Given the description of an element on the screen output the (x, y) to click on. 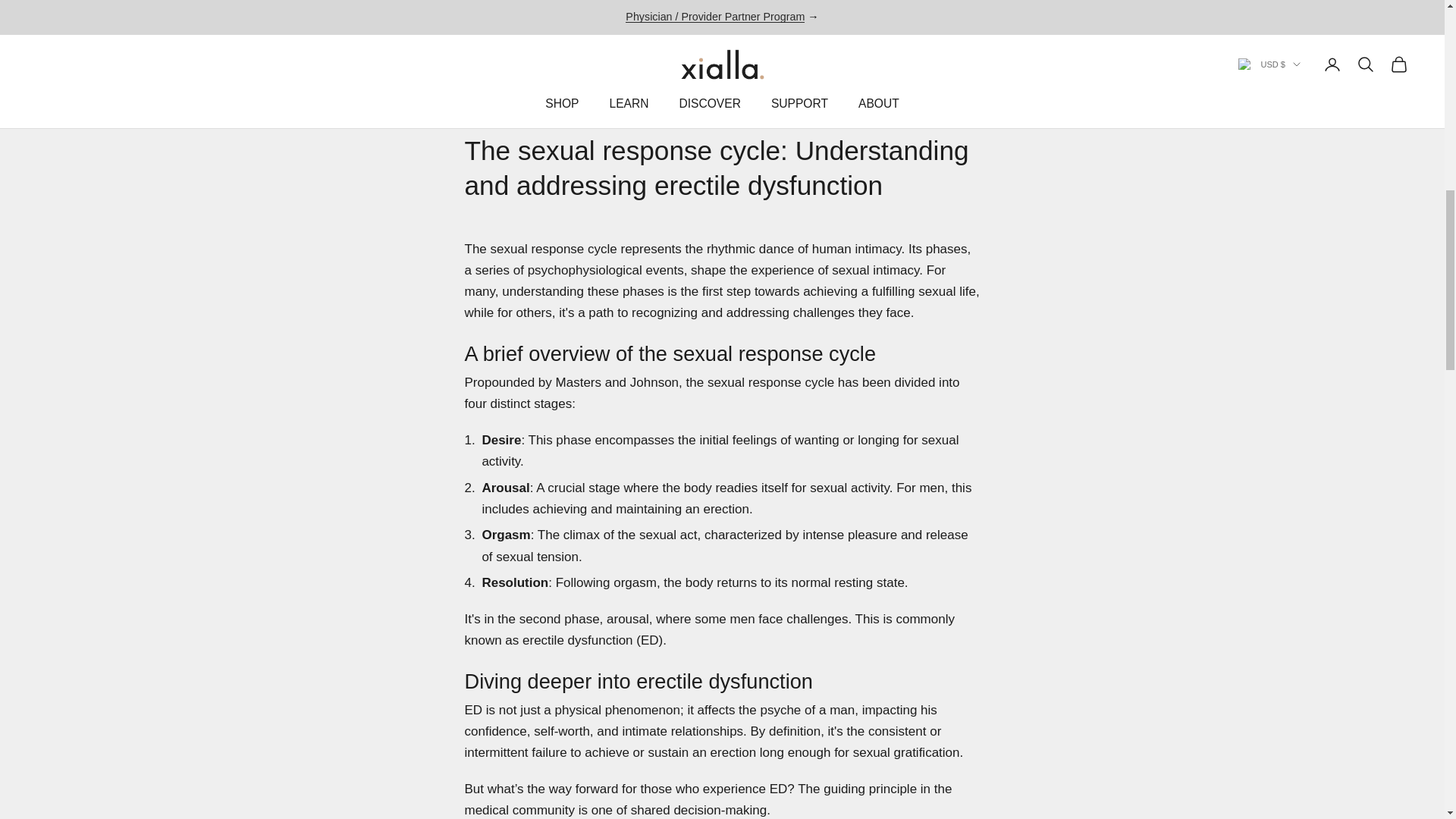
ED (472, 109)
